Given the description of an element on the screen output the (x, y) to click on. 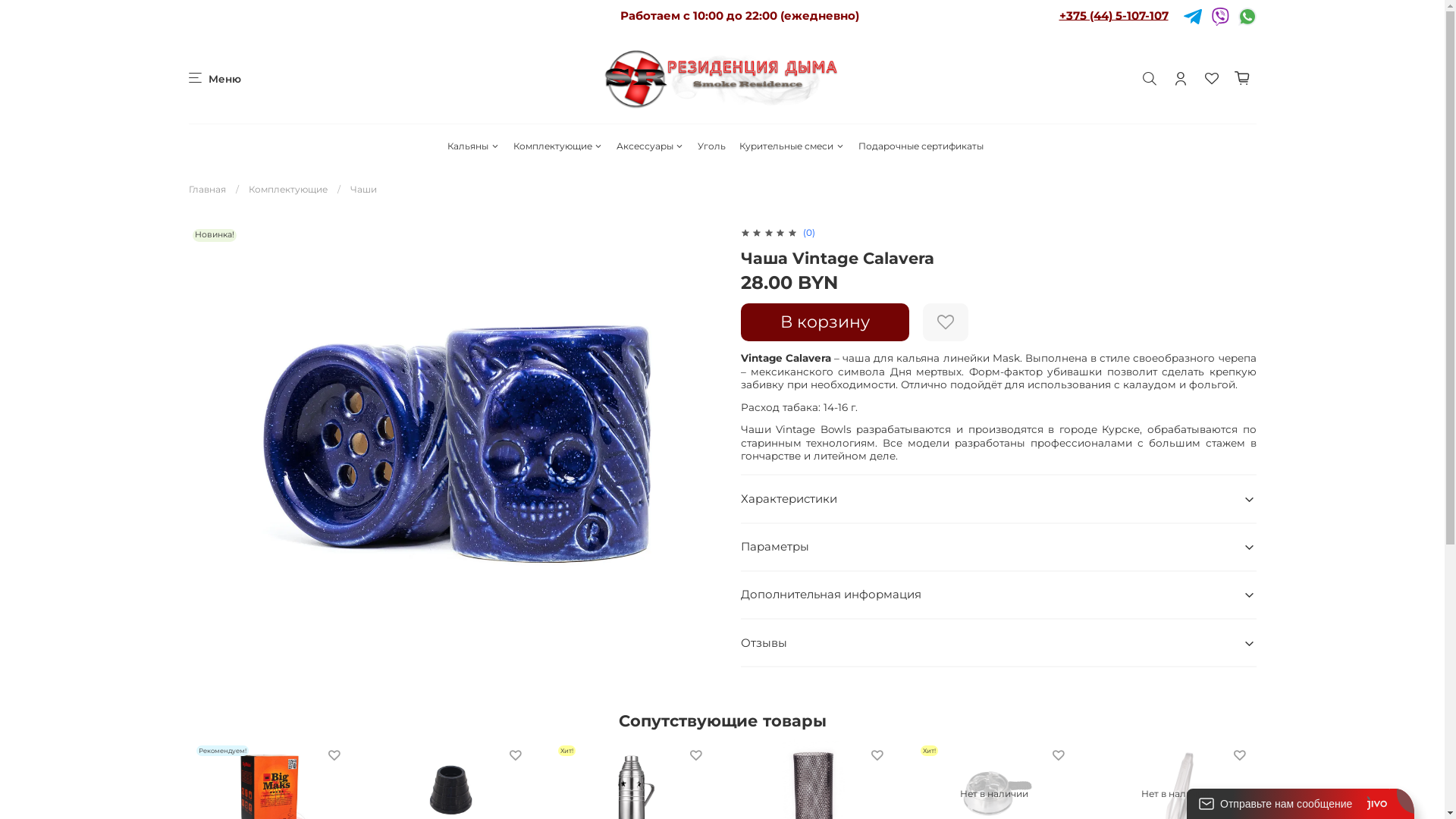
+375 (44) 5-107-107 Element type: text (1112, 14)
